Given the description of an element on the screen output the (x, y) to click on. 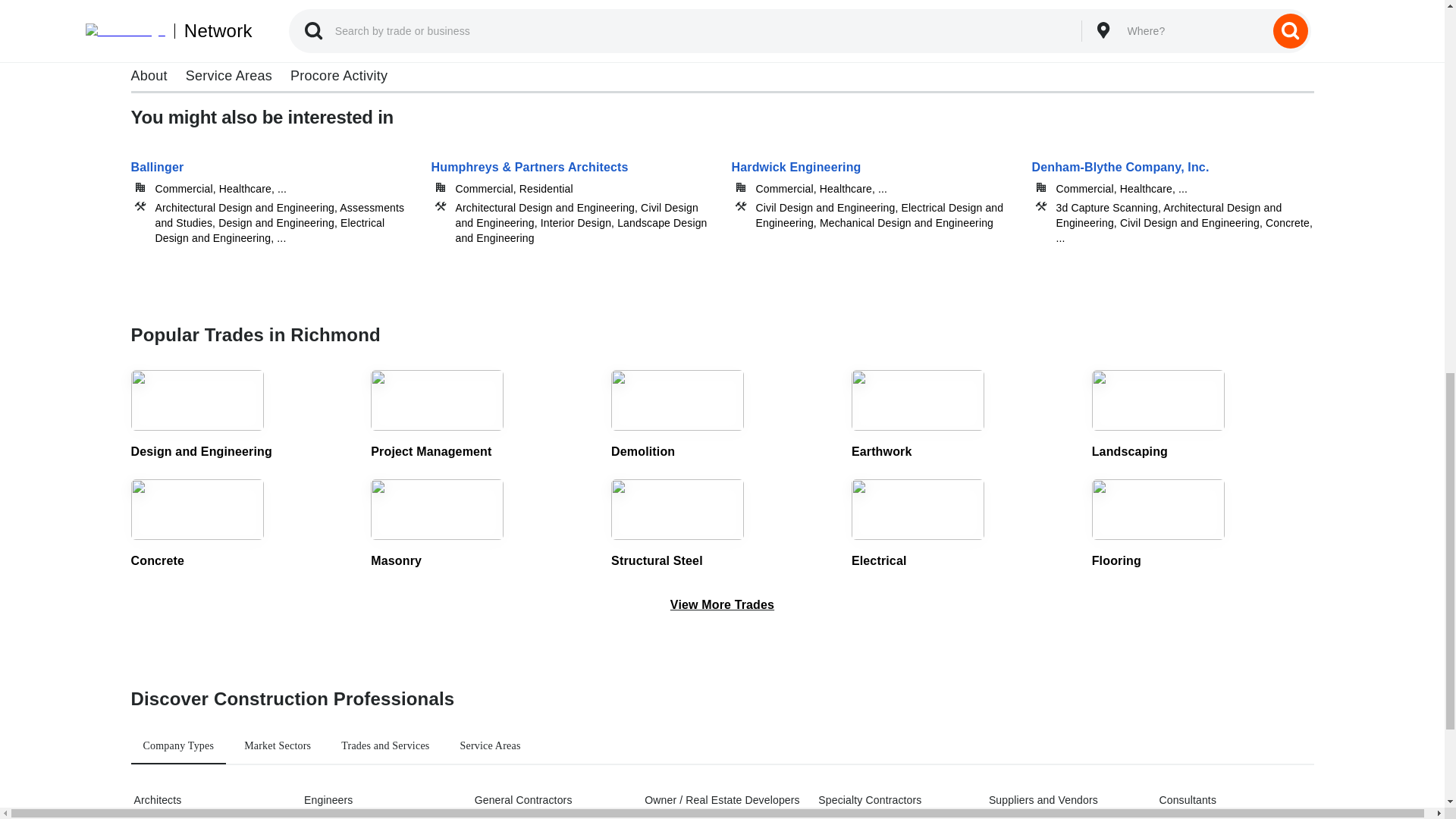
Consultants (1234, 799)
View More Trades (722, 605)
Design and Engineering (241, 415)
Engineers (379, 799)
Company Types (178, 746)
General Contractors (550, 799)
Electrical (962, 524)
Service Areas (489, 746)
Landscaping (1203, 415)
Demolition (721, 415)
Hardwick Engineering (871, 190)
Structural Steel (721, 524)
Earthwork (962, 415)
Ballinger (271, 190)
